Given the description of an element on the screen output the (x, y) to click on. 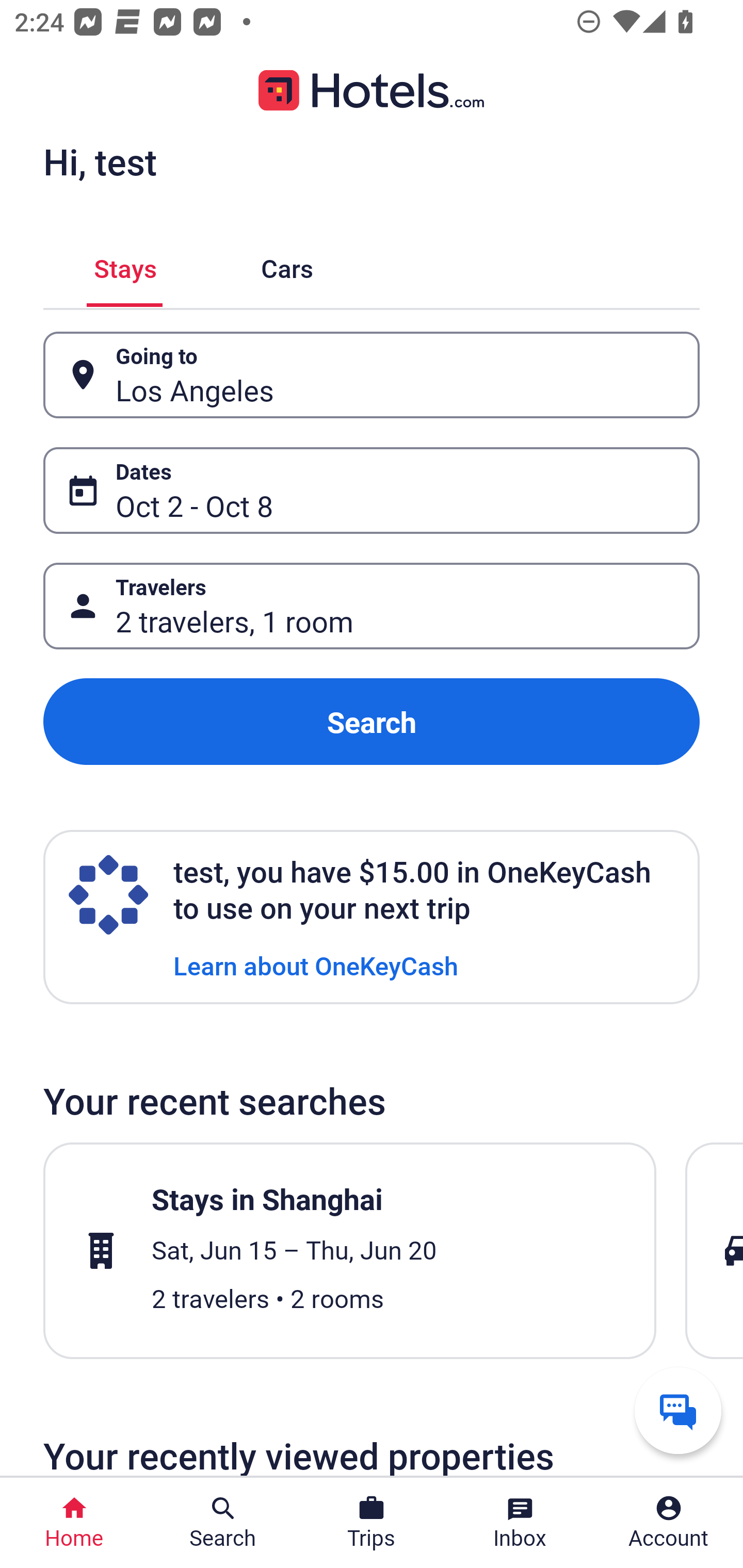
Hi, test (99, 161)
Cars (286, 265)
Going to Button Los Angeles (371, 375)
Dates Button Oct 2 - Oct 8 (371, 489)
Travelers Button 2 travelers, 1 room (371, 605)
Search (371, 721)
Learn about OneKeyCash Learn about OneKeyCash Link (315, 964)
Get help from a virtual agent (677, 1410)
Search Search Button (222, 1522)
Trips Trips Button (371, 1522)
Inbox Inbox Button (519, 1522)
Account Profile. Button (668, 1522)
